Given the description of an element on the screen output the (x, y) to click on. 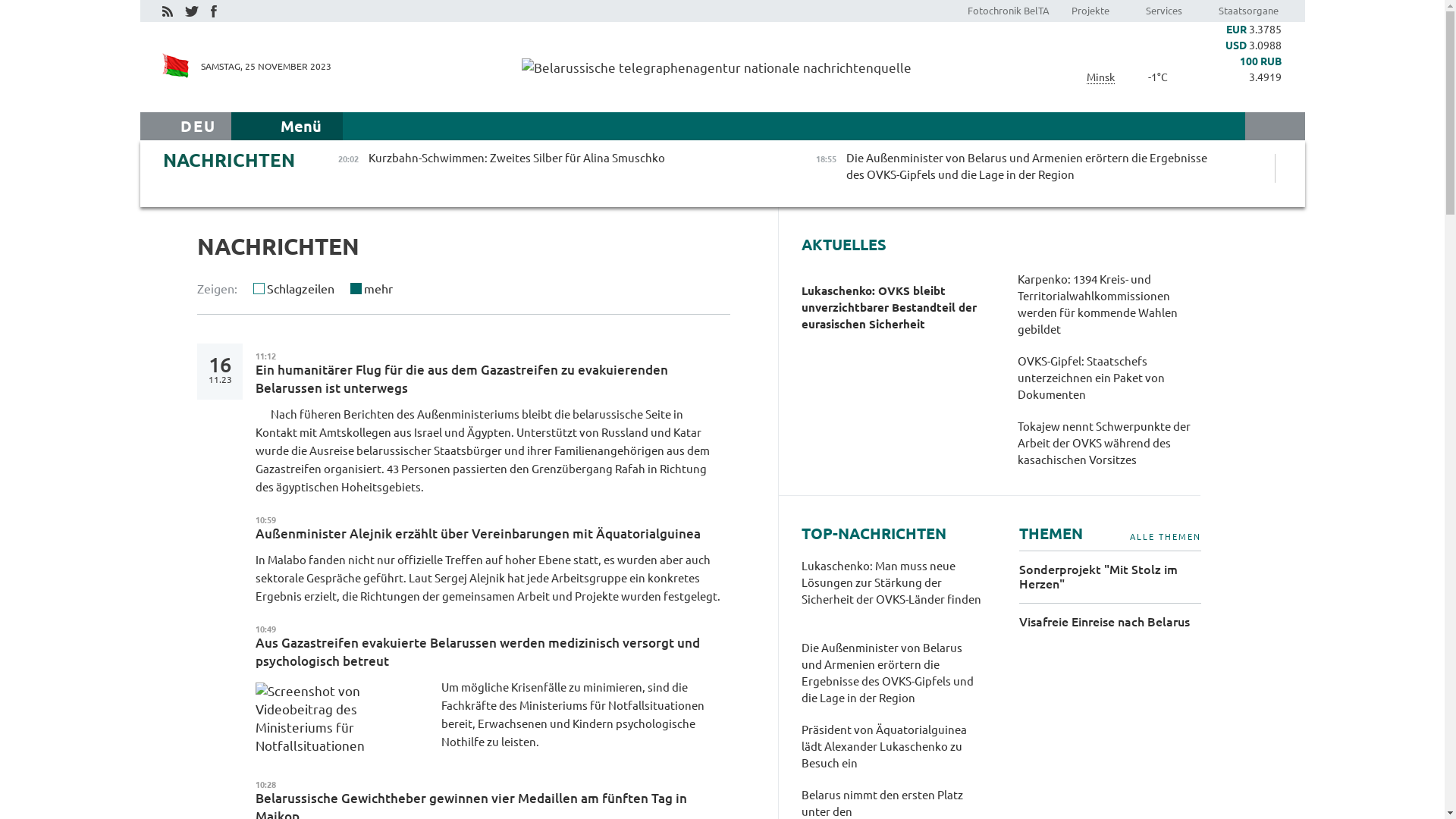
USD 3.0988 Element type: text (1235, 45)
Rss Element type: hover (167, 11)
EUR 3.3785 Element type: text (1235, 29)
NACHRICHTEN Element type: text (228, 160)
ALLE THEMEN Element type: text (1165, 537)
100 RUB 3.4919 Element type: text (1235, 69)
Belarussische telegraphenagentur nationale nachrichtenquelle Element type: hover (716, 68)
Sonderprojekt "Mit Stolz im Herzen" Element type: text (1110, 576)
twitter Element type: hover (191, 9)
Minsk Element type: text (1099, 77)
facebook Element type: hover (213, 11)
facebook Element type: hover (212, 9)
Flag Element type: hover (175, 67)
1 Element type: text (250, 287)
Staatsorgane Element type: text (1247, 10)
1 Element type: text (347, 287)
Projekte Element type: text (1089, 10)
twitter Element type: hover (191, 11)
DEU Element type: text (198, 125)
Flag Element type: hover (175, 65)
Belarussische telegraphenagentur nationale nachrichtenquelle Element type: hover (721, 66)
Services Element type: text (1163, 10)
Rss Element type: hover (166, 9)
Visafreie Einreise nach Belarus Element type: text (1110, 621)
aktualisieren Element type: hover (717, 292)
Fotochronik BelTA Element type: text (1008, 10)
